Given the description of an element on the screen output the (x, y) to click on. 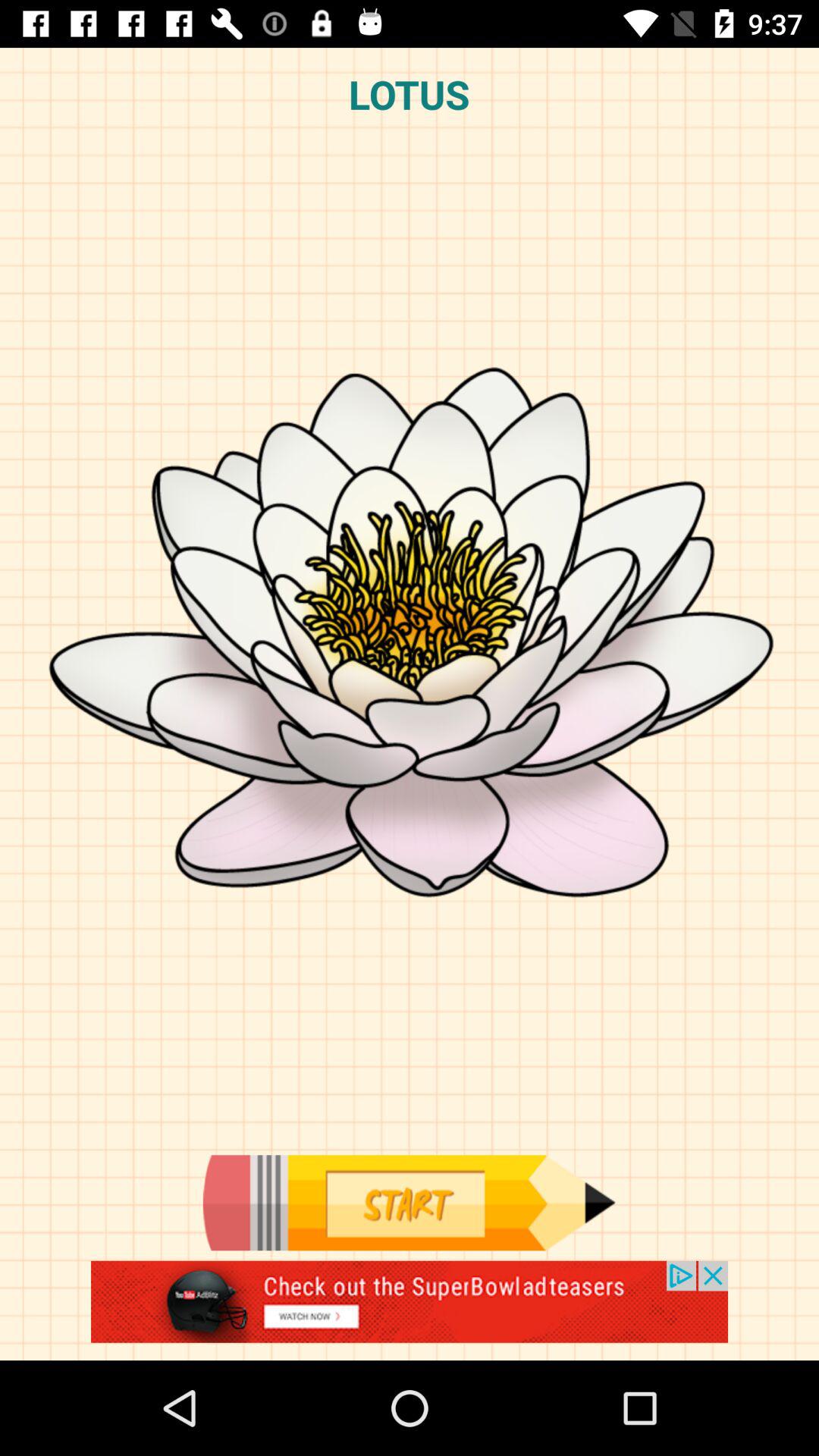
open advertisement (409, 1310)
